Given the description of an element on the screen output the (x, y) to click on. 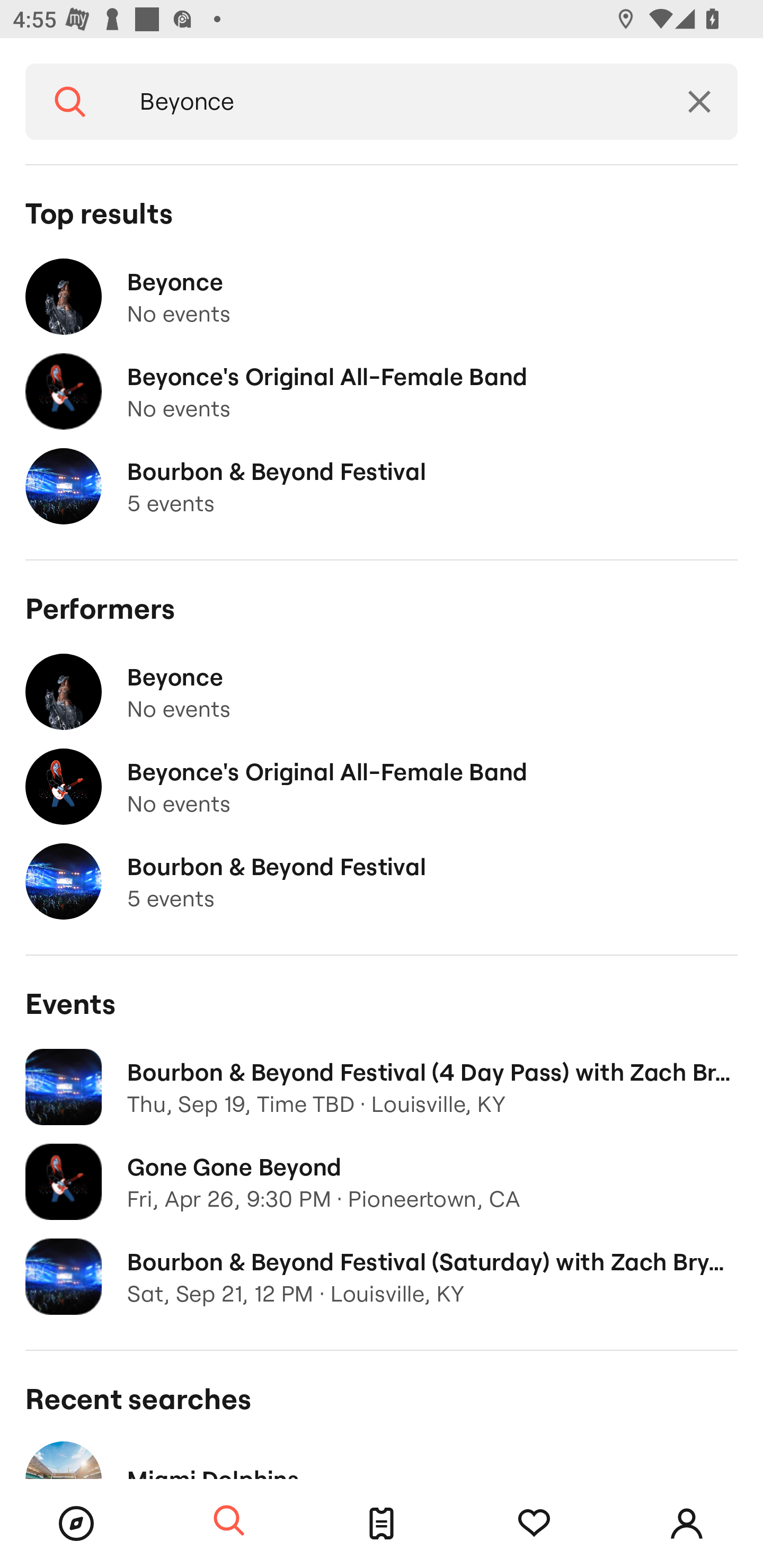
Search (69, 101)
Beyonce (387, 101)
Clear (699, 101)
Beyonce No events (381, 296)
Beyonce's Original All-Female Band No events (381, 391)
Bourbon & Beyond Festival 5 events (381, 486)
Beyonce No events (381, 692)
Beyonce's Original All-Female Band No events (381, 787)
Bourbon & Beyond Festival 5 events (381, 881)
Browse (76, 1523)
Search (228, 1521)
Tickets (381, 1523)
Tracking (533, 1523)
Account (686, 1523)
